Given the description of an element on the screen output the (x, y) to click on. 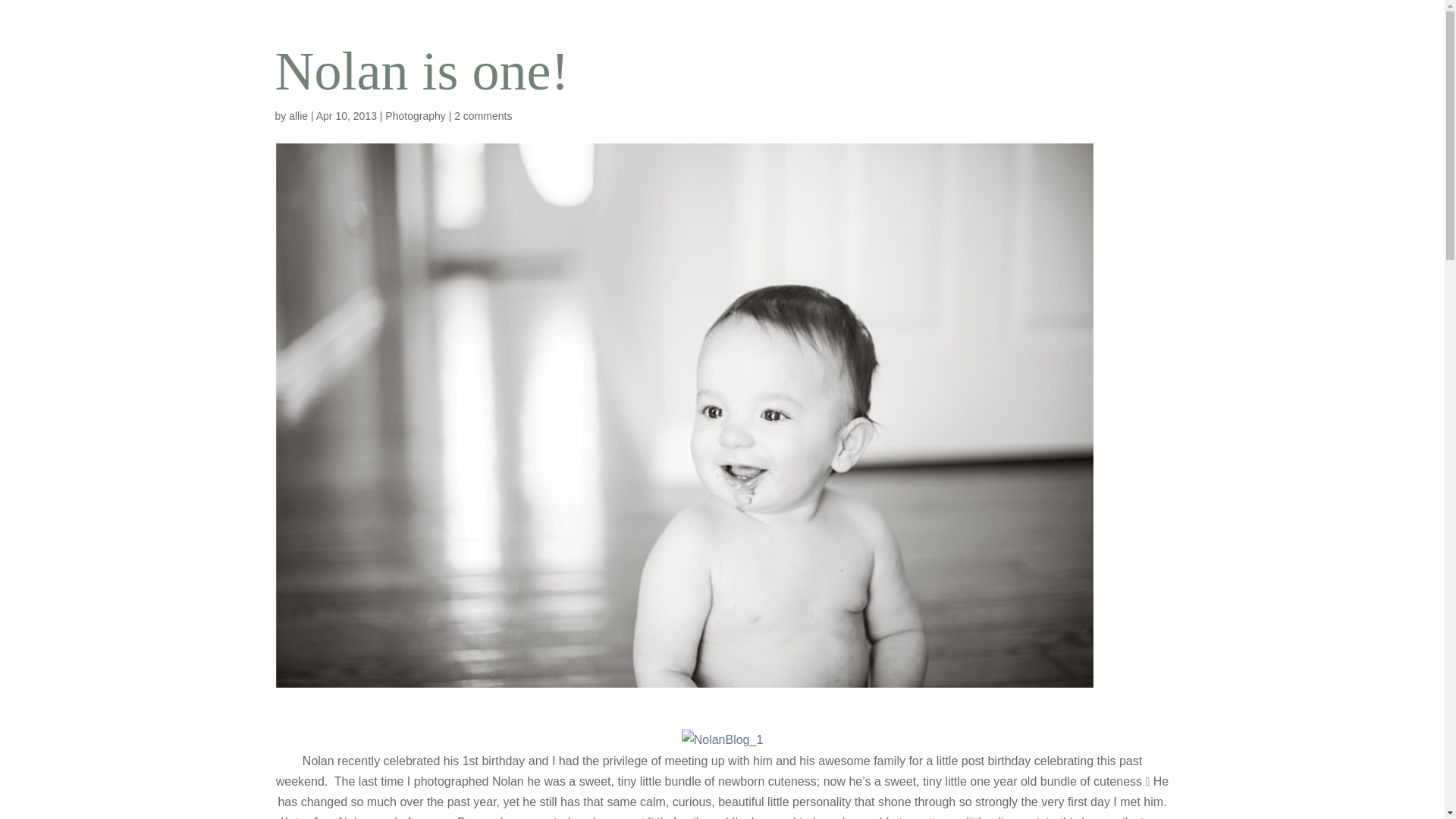
allie (297, 115)
2 comments (483, 115)
Photography (415, 115)
Posts by allie (297, 115)
